Given the description of an element on the screen output the (x, y) to click on. 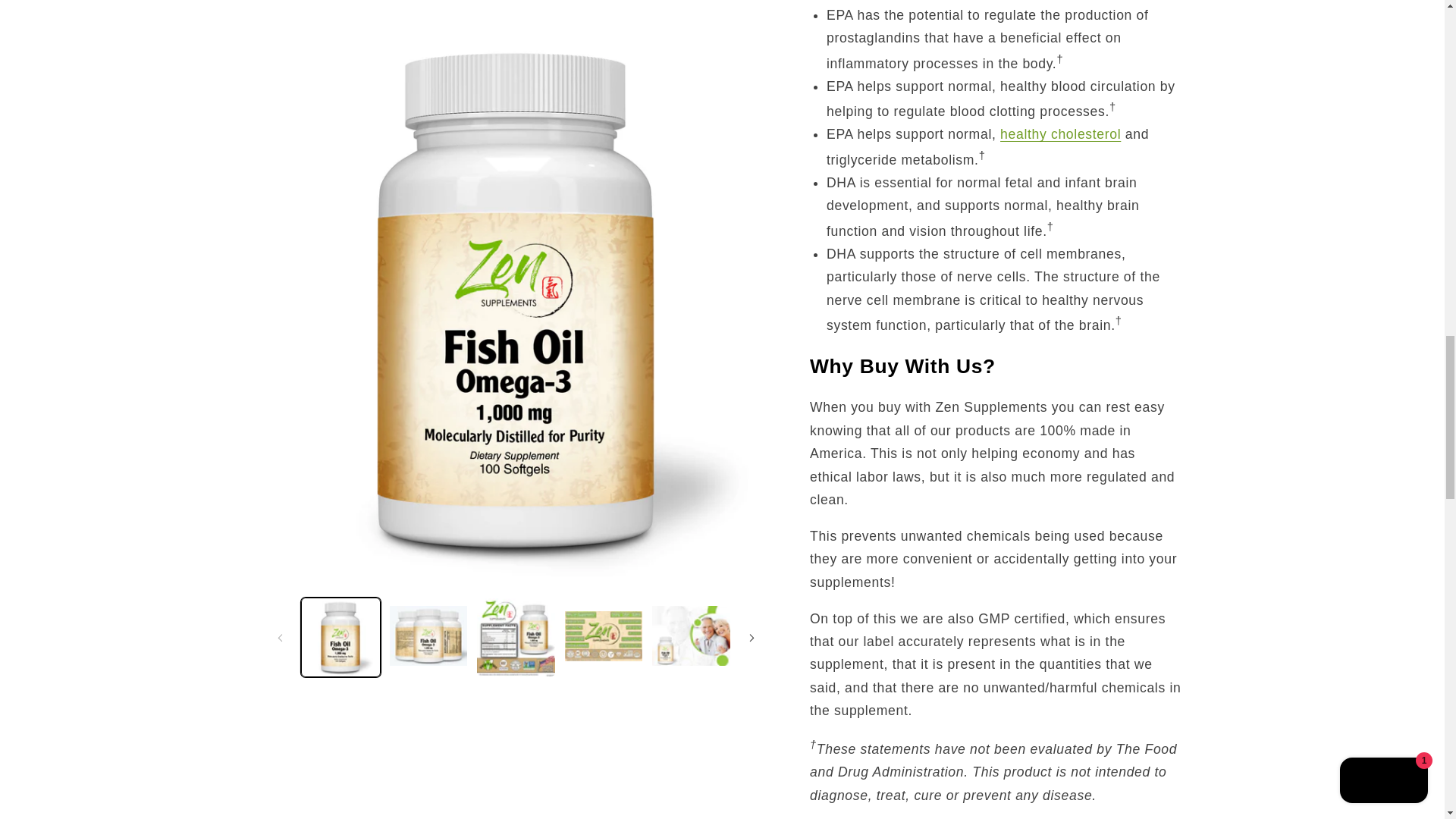
everything to know about cholesterol (1060, 133)
